Given the description of an element on the screen output the (x, y) to click on. 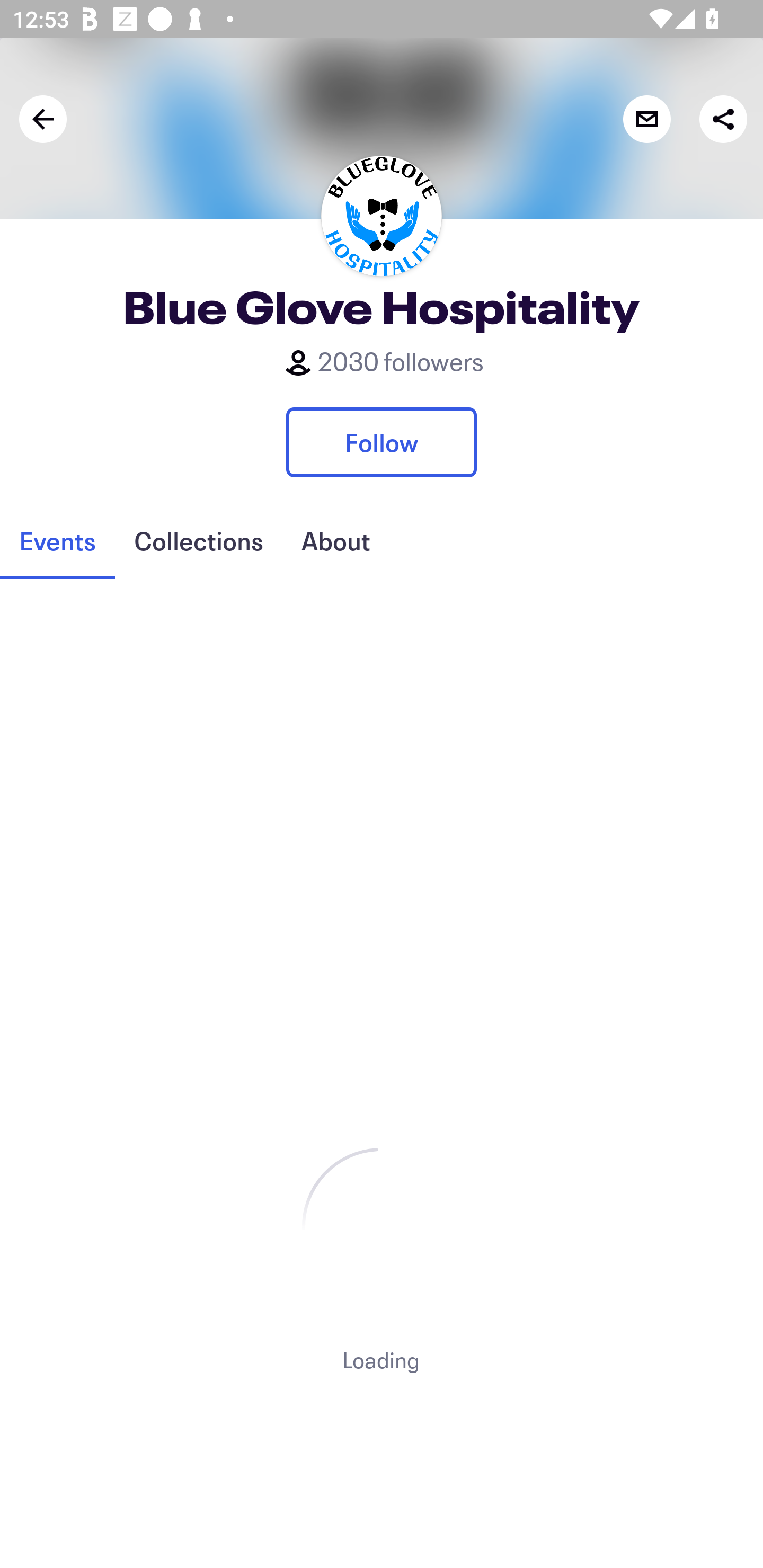
Back navigation arrow (43, 118)
Contact organizer (646, 118)
Share with friends (722, 118)
Follow (381, 441)
Collections (198, 540)
About (335, 540)
